Given the description of an element on the screen output the (x, y) to click on. 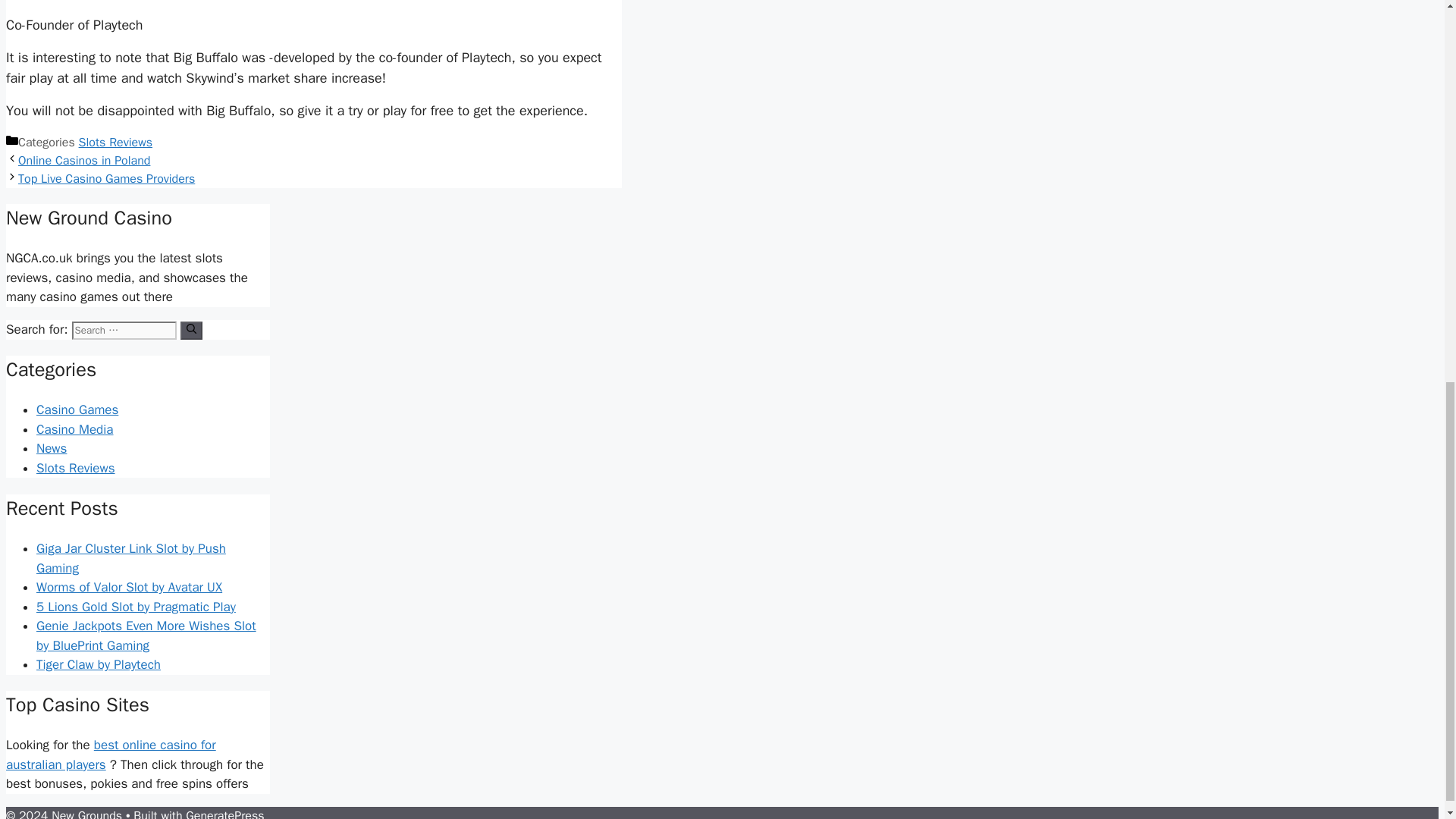
News (51, 448)
Casino Games (76, 409)
best online casino for australian players (110, 755)
Worms of Valor Slot by Avatar UX (129, 587)
Online Casinos in Poland (83, 160)
Casino Media (74, 429)
Top Live Casino Games Providers (106, 178)
Genie Jackpots Even More Wishes Slot by BluePrint Gaming (146, 635)
Giga Jar Cluster Link Slot by Push Gaming (130, 558)
Tiger Claw by Playtech (98, 664)
Search for: (123, 330)
Slots Reviews (75, 467)
Slots Reviews (115, 142)
5 Lions Gold Slot by Pragmatic Play (135, 606)
